Given the description of an element on the screen output the (x, y) to click on. 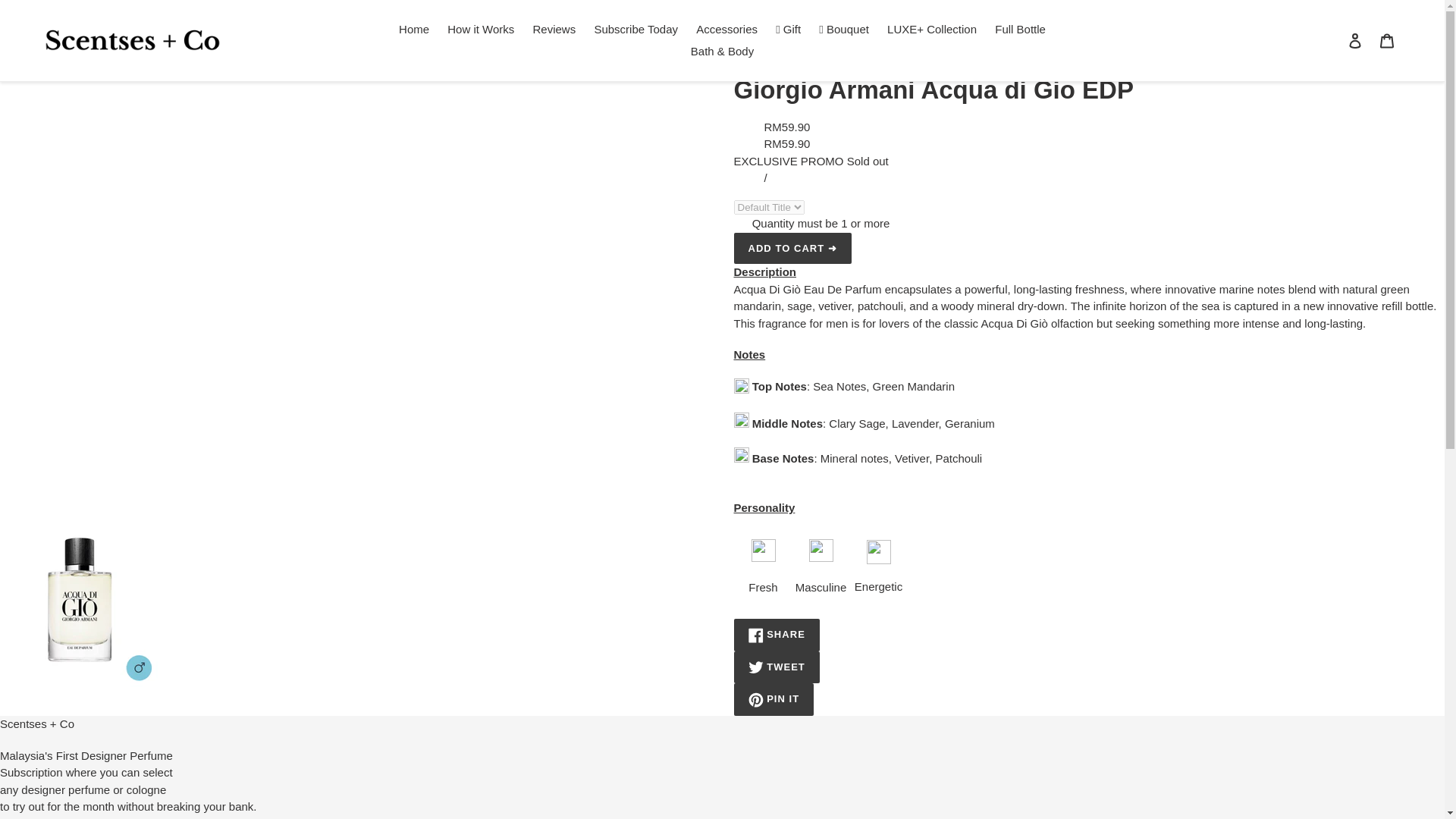
Home (413, 29)
How it Works (480, 29)
Accessories (726, 29)
Subscribe Today (776, 635)
Cart (635, 29)
Log in (1387, 40)
Full Bottle (1355, 40)
Reviews (1019, 29)
